Given the description of an element on the screen output the (x, y) to click on. 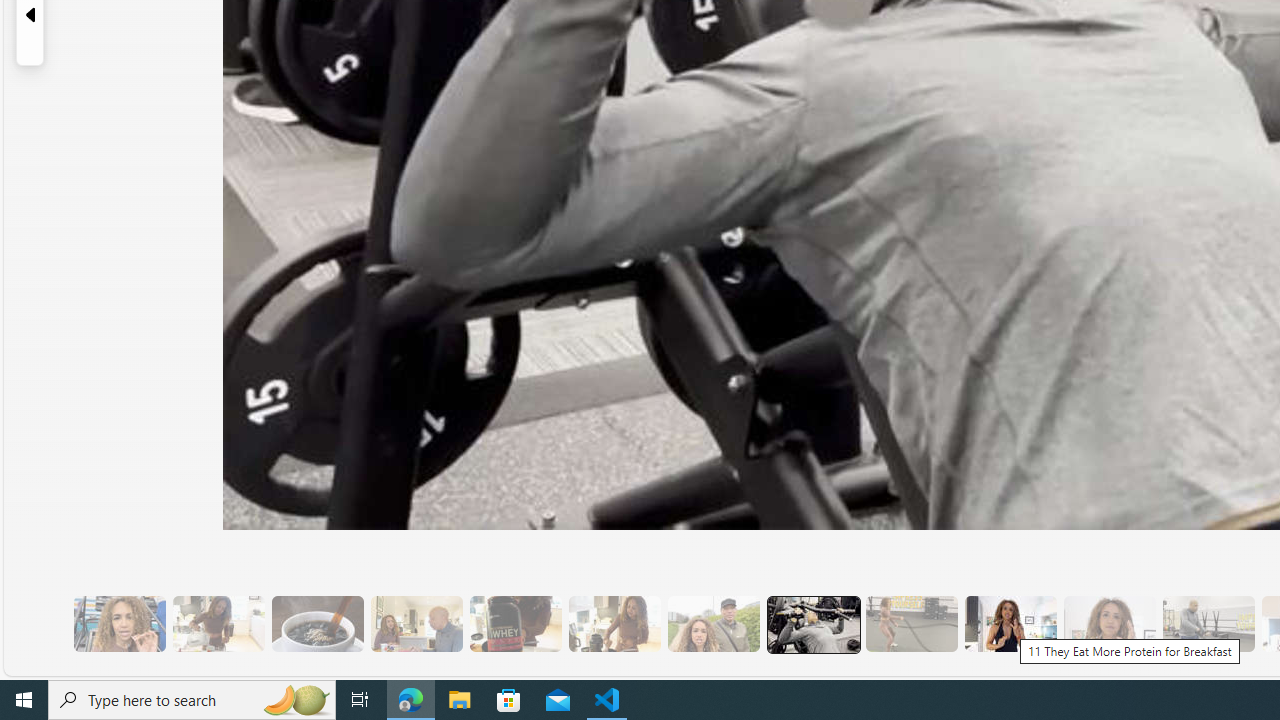
2 They Use Protein Powder for Flavor (119, 624)
8 They Walk to the Gym (713, 624)
8 They Walk to the Gym (713, 624)
8 Be Mindful of Coffee (317, 624)
6 Since Eating More Protein Her Training Has Improved (514, 624)
7 They Don't Skip Meals (614, 624)
3 They Drink Lemon Tea (217, 624)
6 Since Eating More Protein Her Training Has Improved (514, 624)
5 She Eats Less Than Her Husband (416, 624)
13 Her Husband Does Group Cardio Classs (1208, 624)
10 Then, They Do HIIT Cardio (911, 624)
11 They Eat More Protein for Breakfast (1010, 624)
